Given the description of an element on the screen output the (x, y) to click on. 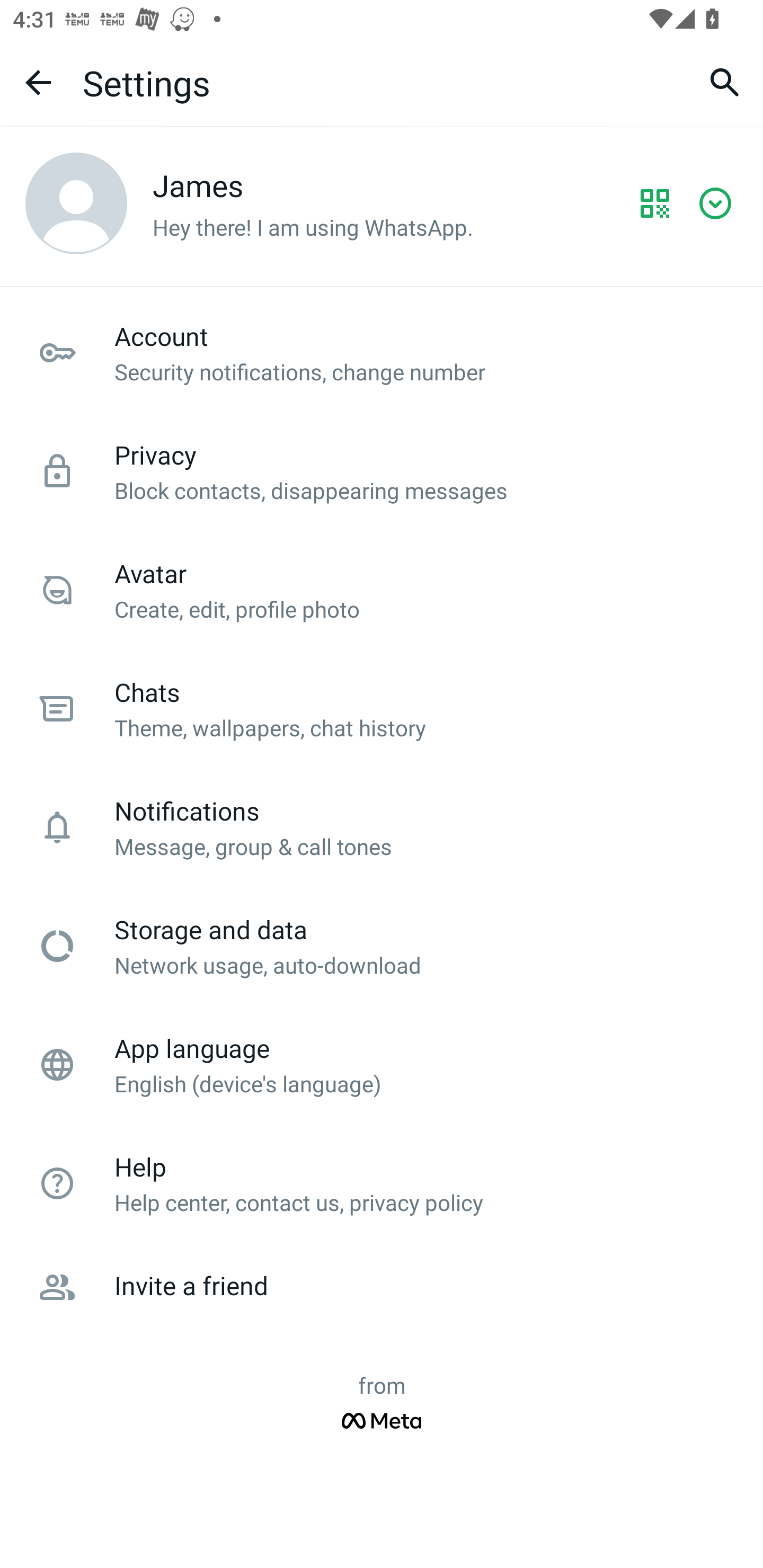
Navigate up (38, 82)
Search (724, 81)
QR code (654, 202)
Button to switch or add an account (719, 202)
Account Security notifications, change number (381, 352)
Privacy Block contacts, disappearing messages (381, 471)
Avatar Create, edit, profile photo (381, 590)
Chats Theme, wallpapers, chat history (381, 708)
Notifications Message, group & call tones (381, 827)
Storage and data Network usage, auto-download (381, 946)
App language English (device's language) (381, 1064)
Help Help center, contact us, privacy policy (381, 1183)
Invite a friend (381, 1287)
